Given the description of an element on the screen output the (x, y) to click on. 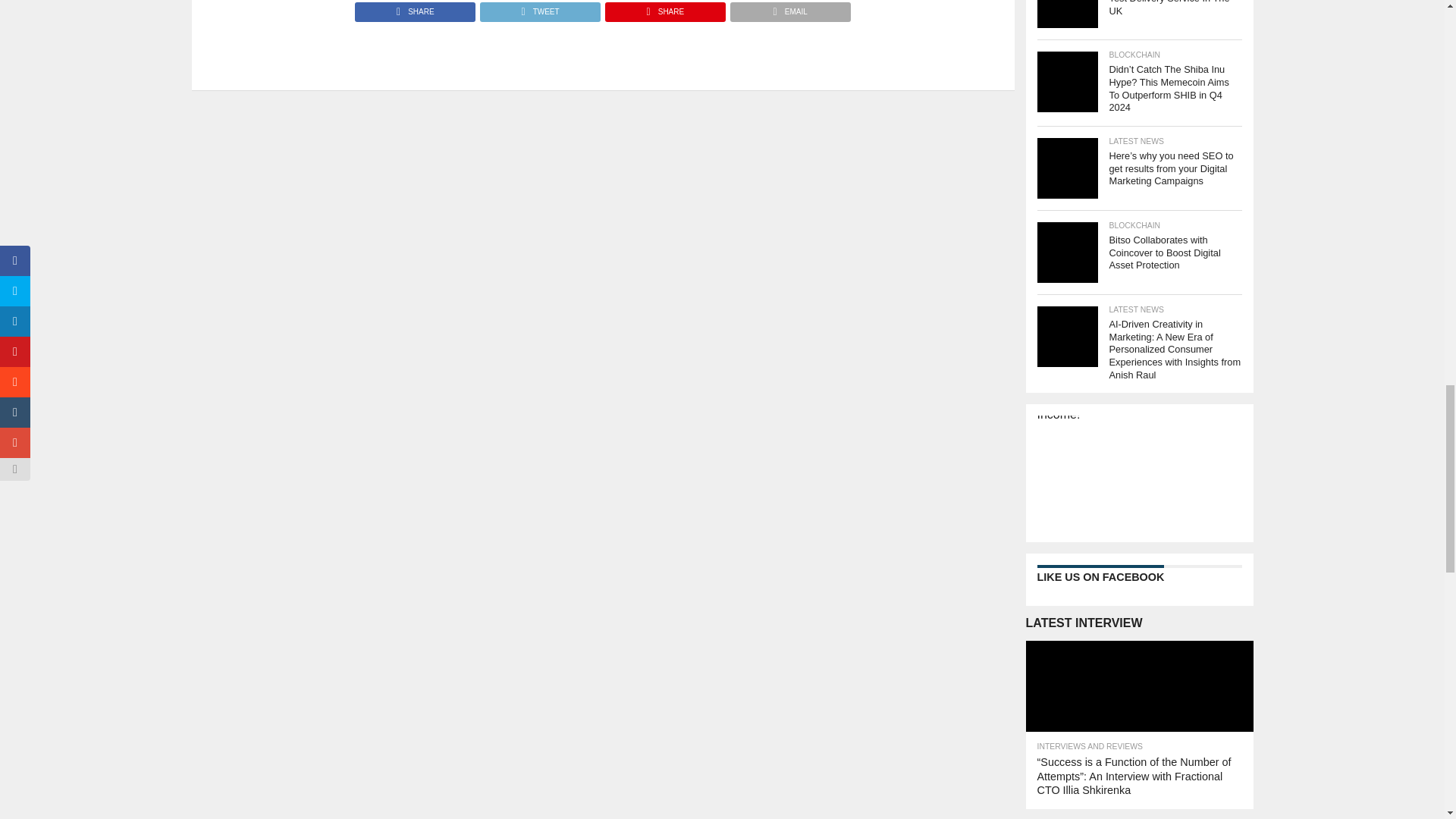
Share on Facebook (415, 7)
Tweet This Post (539, 7)
Pin This Post (664, 7)
